Given the description of an element on the screen output the (x, y) to click on. 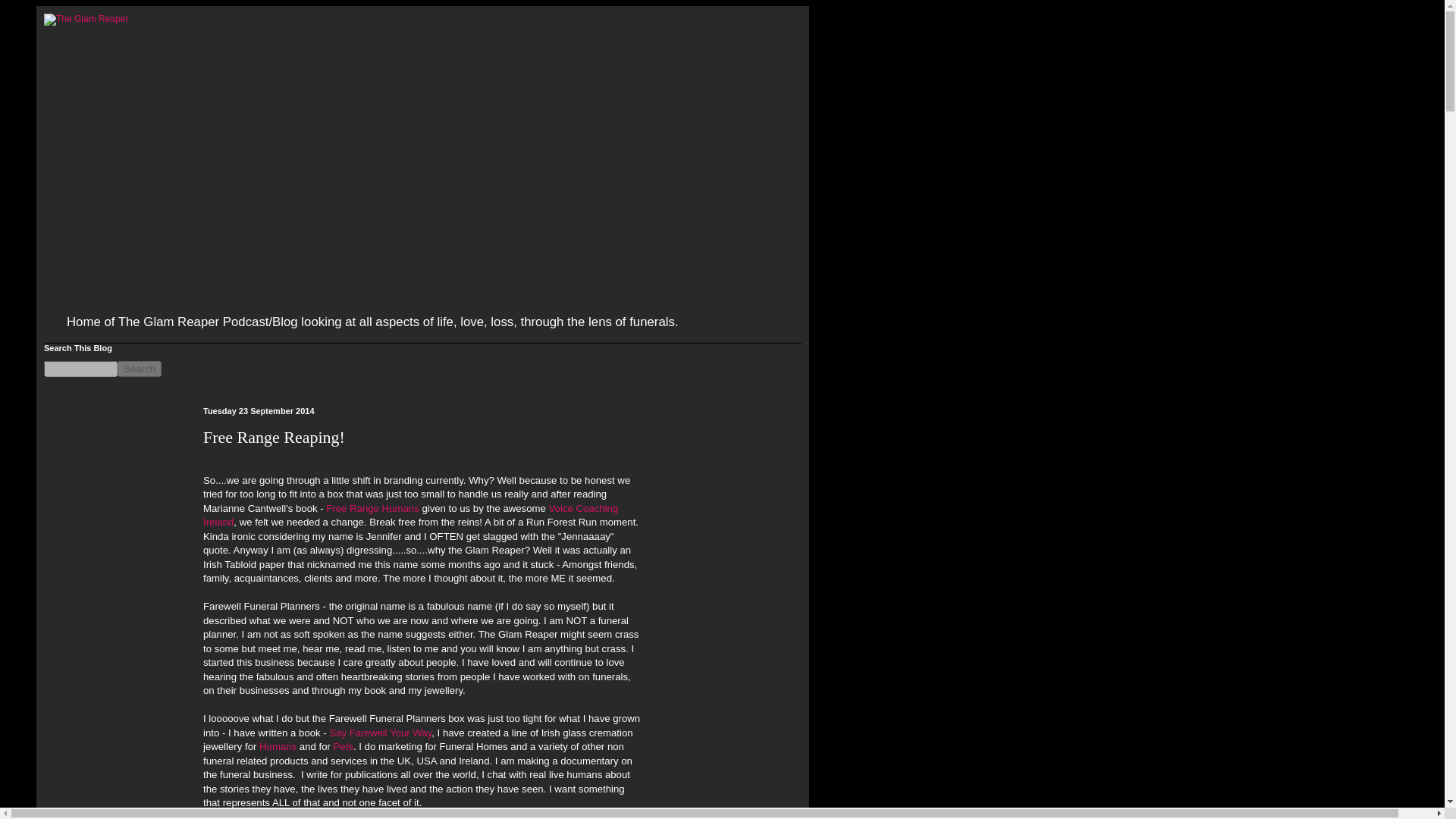
Humans (278, 746)
Say Farewell Your Way (379, 732)
Search (139, 368)
search (139, 368)
Free Range Humans (372, 508)
Search (139, 368)
Search (139, 368)
Voice Coaching Ireland (410, 514)
Pets (343, 746)
search (80, 368)
